Given the description of an element on the screen output the (x, y) to click on. 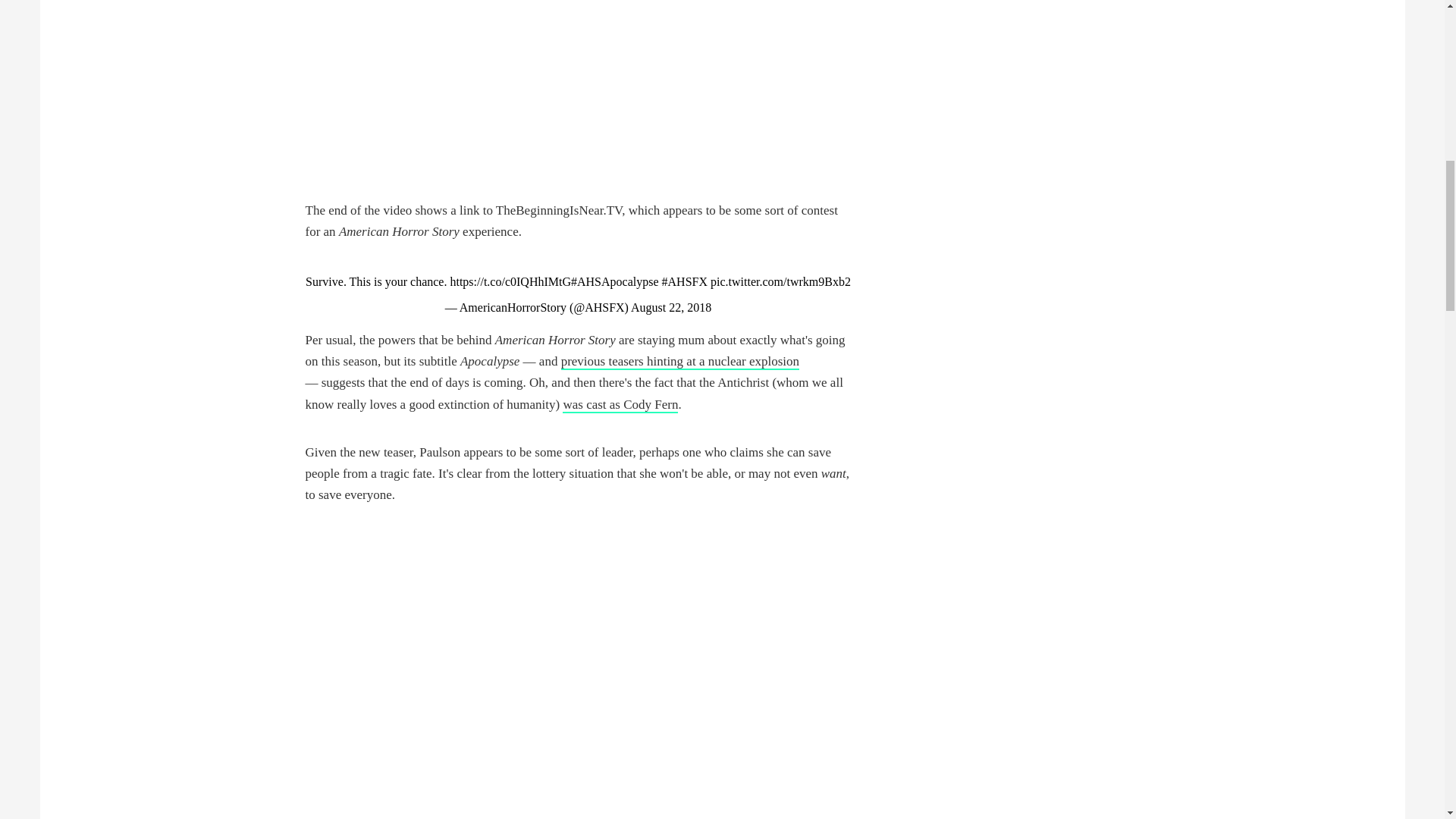
previous teasers hinting at a nuclear explosion (679, 361)
was cast as Cody Fern (620, 405)
August 22, 2018 (670, 307)
